Given the description of an element on the screen output the (x, y) to click on. 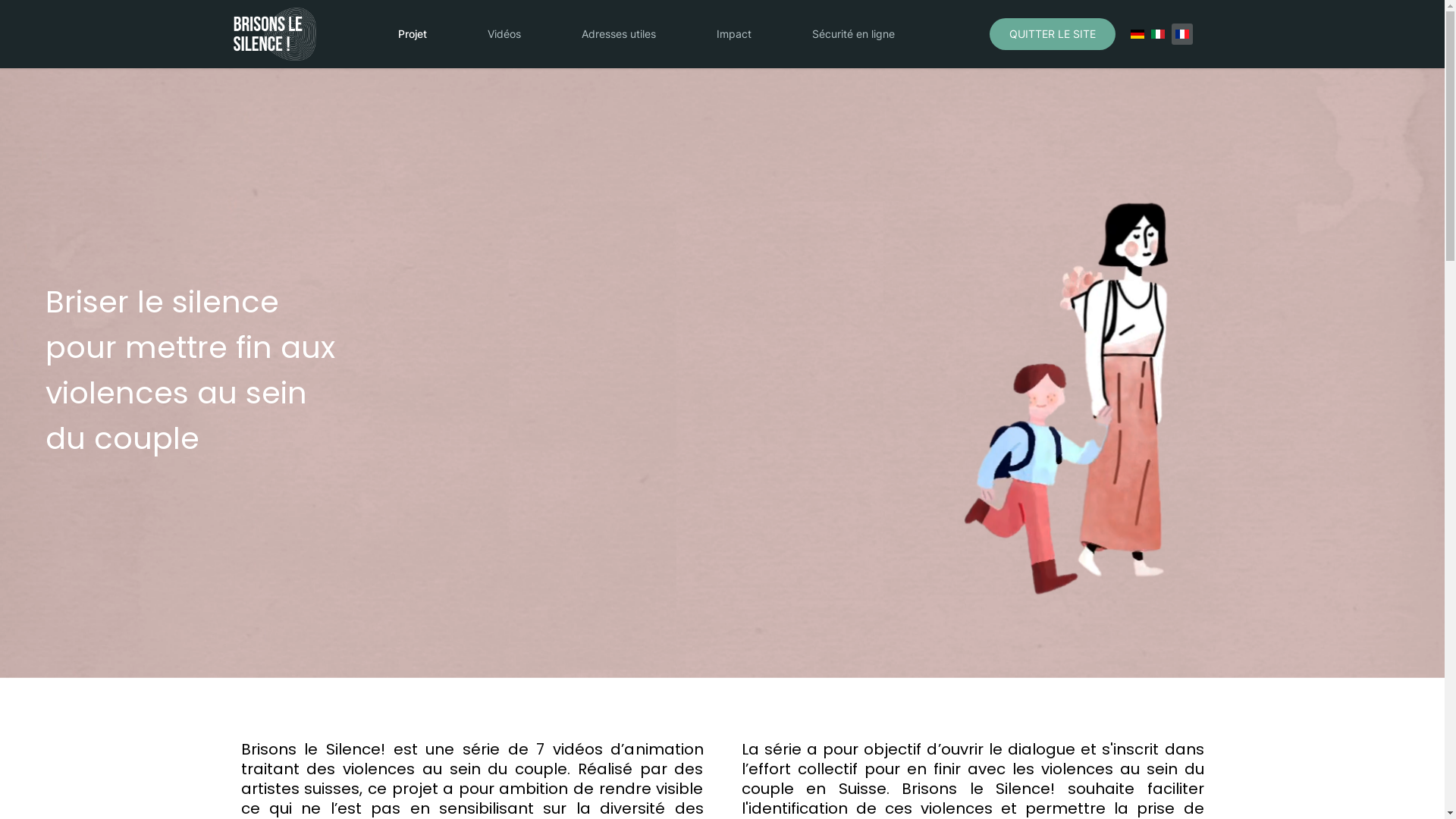
Impact Element type: text (733, 34)
QUITTER LE SITE Element type: text (1051, 34)
Adresses utiles Element type: text (617, 34)
Italiano (it-IT) Element type: hover (1157, 33)
Deutsch (Deutschland) Element type: hover (1136, 33)
Projet Element type: text (411, 34)
